Given the description of an element on the screen output the (x, y) to click on. 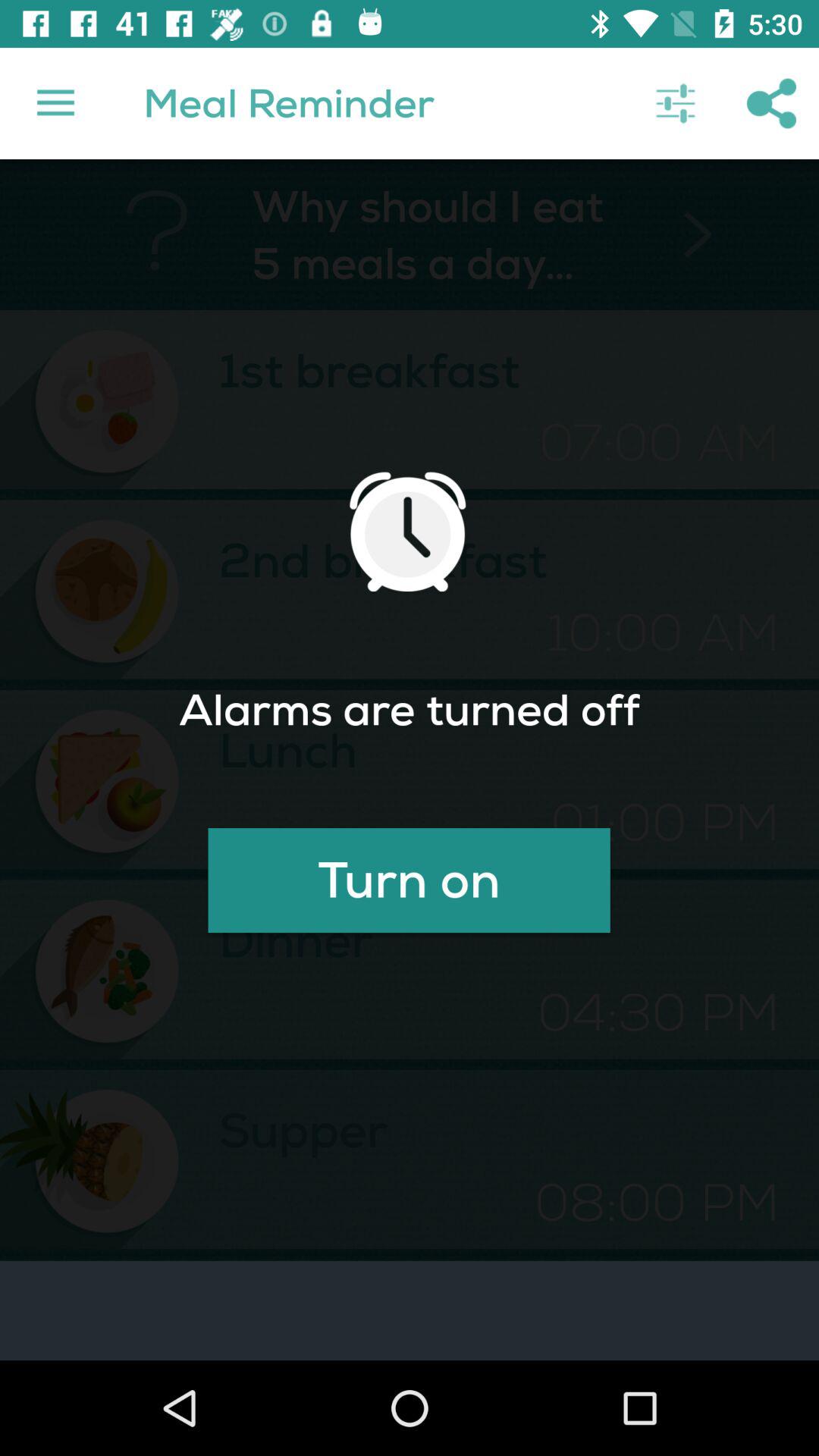
launch icon to the left of ? (55, 103)
